Given the description of an element on the screen output the (x, y) to click on. 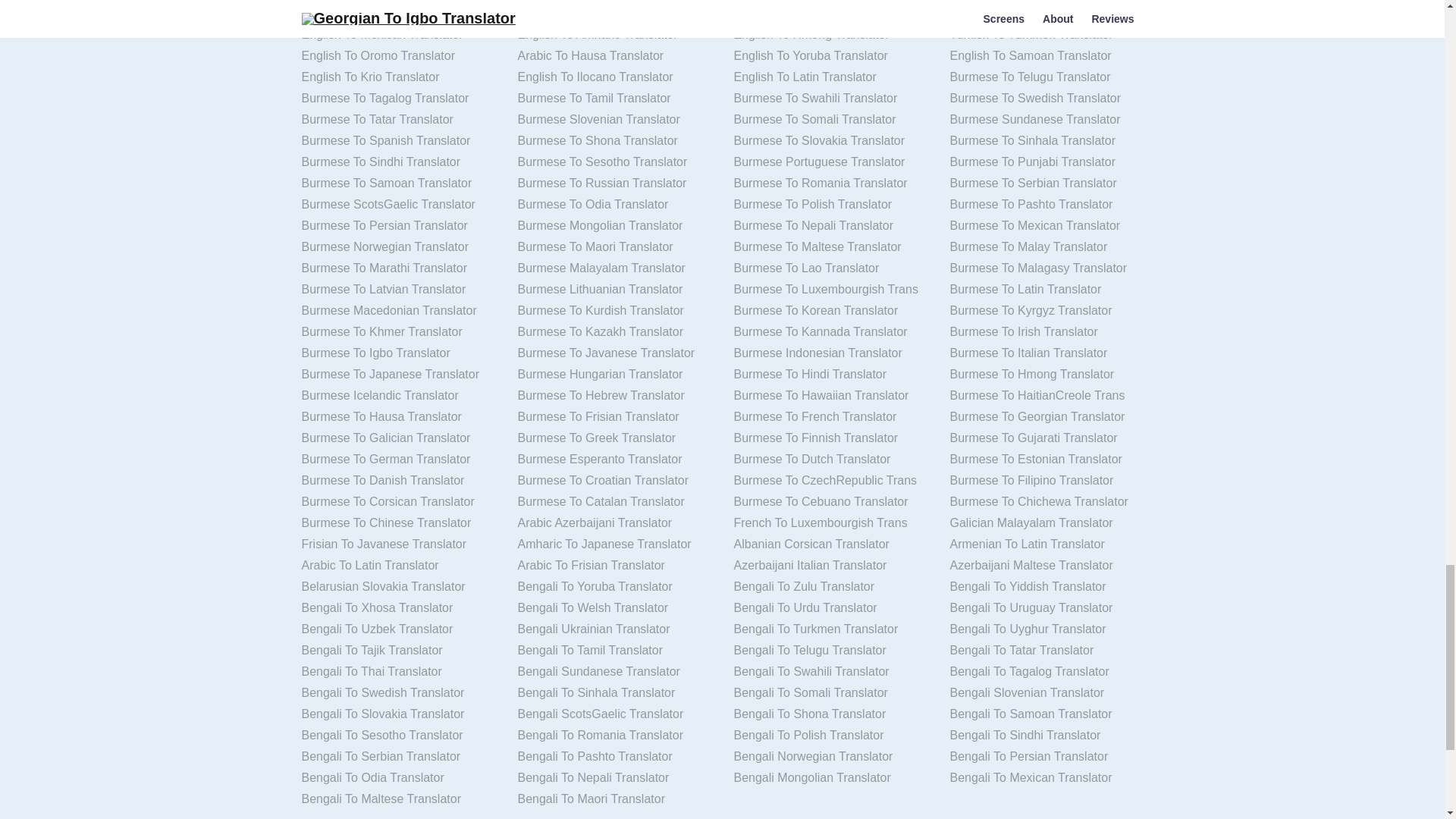
Burmese To Swahili Translator (829, 97)
English To Mexican Translator (397, 34)
Burmese To Telugu Translator (1046, 76)
English To Twi Translator (397, 13)
English To Oromo Translator (397, 55)
English To Krio Translator (397, 76)
English Kinyarwanda Translator (829, 13)
Burmese To Tatar Translator (397, 119)
Turkish To Turkmen Translator (1046, 34)
English To Amharic Translator (614, 34)
